Given the description of an element on the screen output the (x, y) to click on. 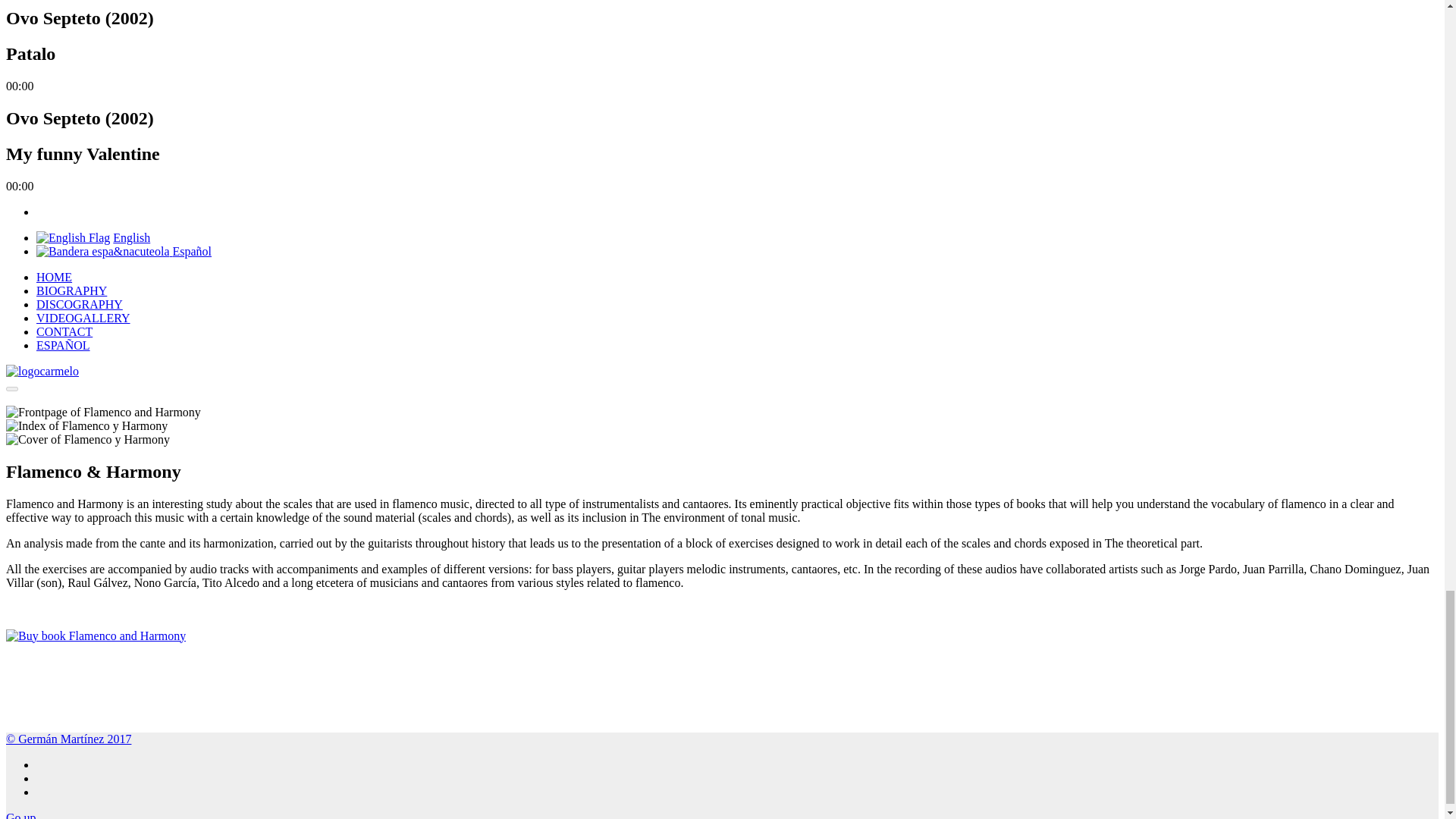
English (131, 237)
DISCOGRAPHY (79, 304)
HOME (53, 277)
BIOGRAPHY (71, 290)
VIDEOGALLERY (83, 318)
CONTACT (64, 331)
